Given the description of an element on the screen output the (x, y) to click on. 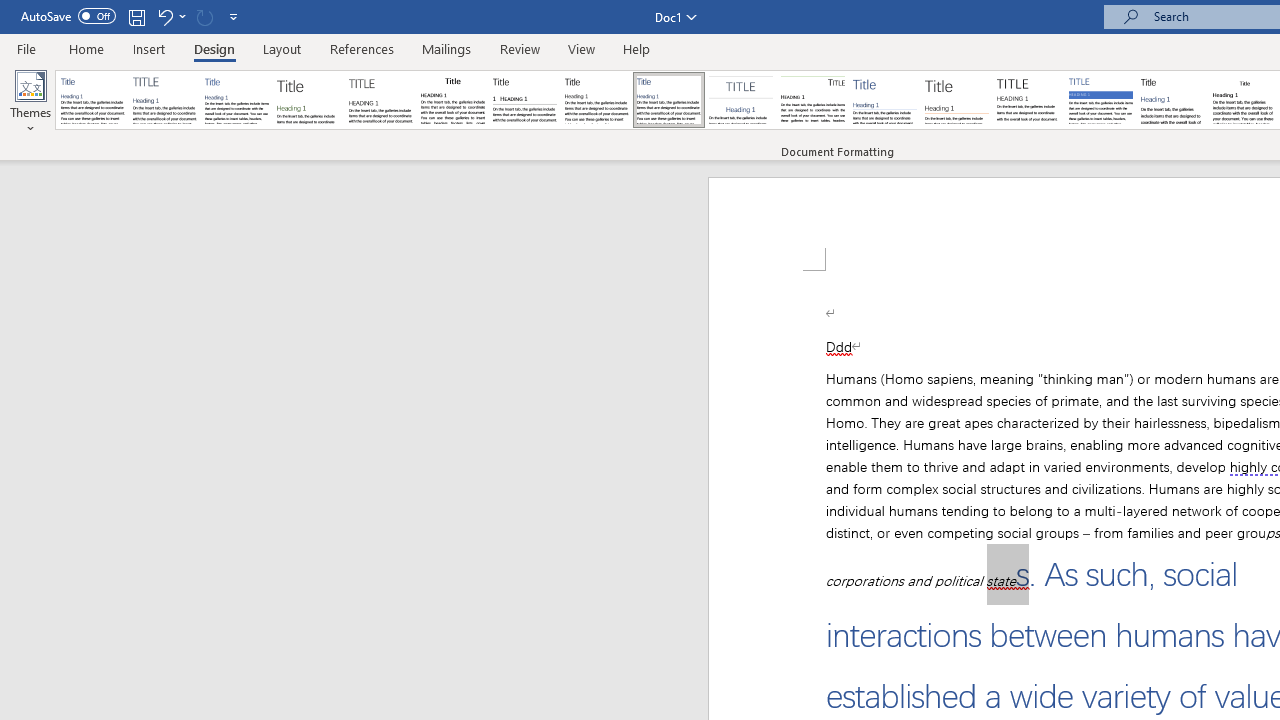
Black & White (Classic) (452, 100)
Can't Repeat (204, 15)
Minimalist (1028, 100)
Lines (Distinctive) (812, 100)
Word (1172, 100)
Casual (669, 100)
Undo Outline Move Up (170, 15)
Black & White (Word 2013) (596, 100)
Basic (Simple) (236, 100)
